Given the description of an element on the screen output the (x, y) to click on. 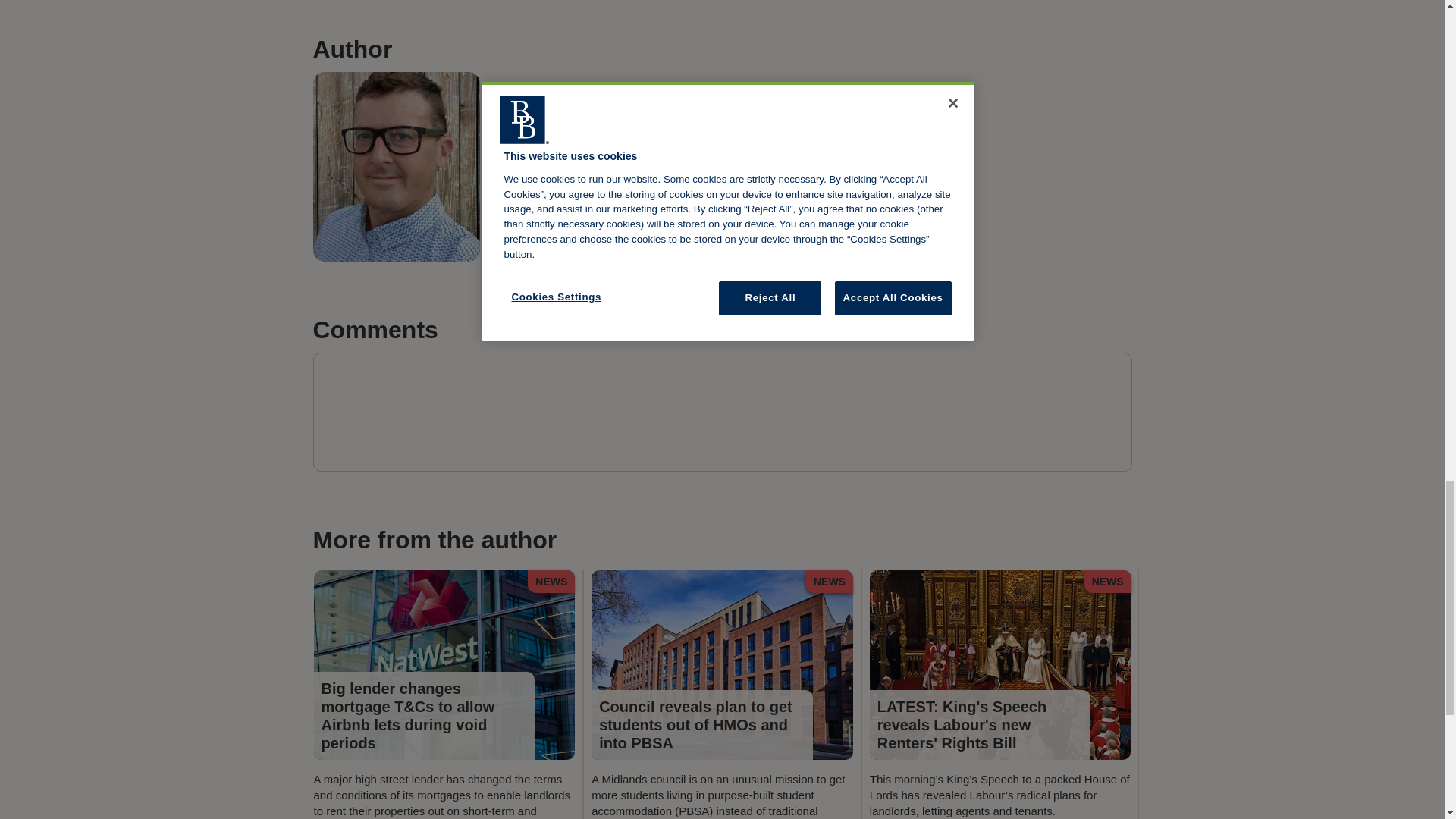
Learn more (548, 230)
